Given the description of an element on the screen output the (x, y) to click on. 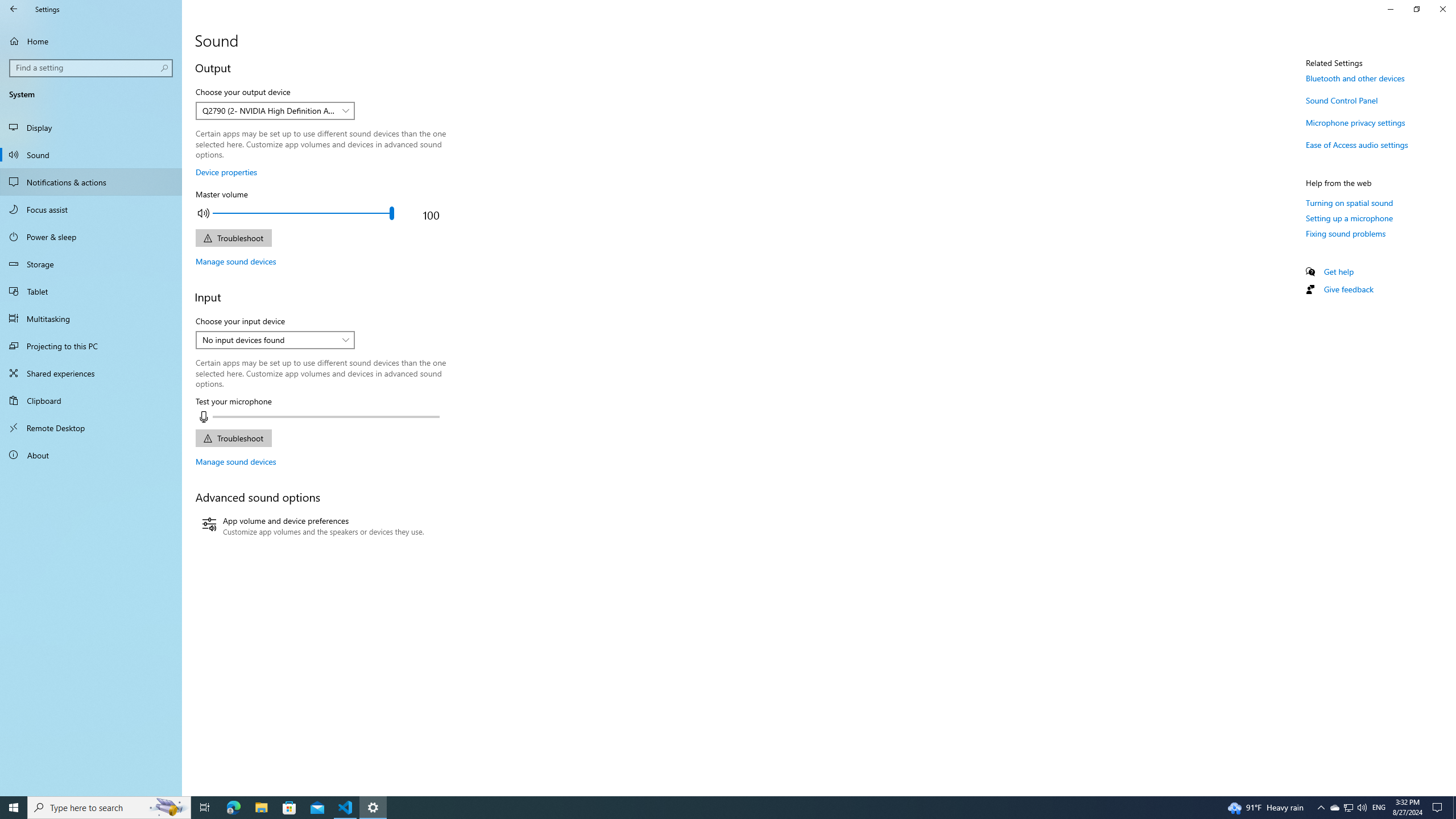
Mute master volume (203, 213)
Back (13, 9)
Fixing sound problems (1346, 233)
Q2790: 100% (1361, 807)
User Promoted Notification Area (1347, 807)
Get help (1338, 271)
Storage (91, 263)
Sound Control Panel (1341, 100)
Power & sleep (91, 236)
Close Settings (1442, 9)
Search box, Find a setting (91, 67)
Multitasking (91, 318)
Q2790 (2- NVIDIA High Definition Audio) (269, 110)
About (91, 454)
Clipboard (91, 400)
